Given the description of an element on the screen output the (x, y) to click on. 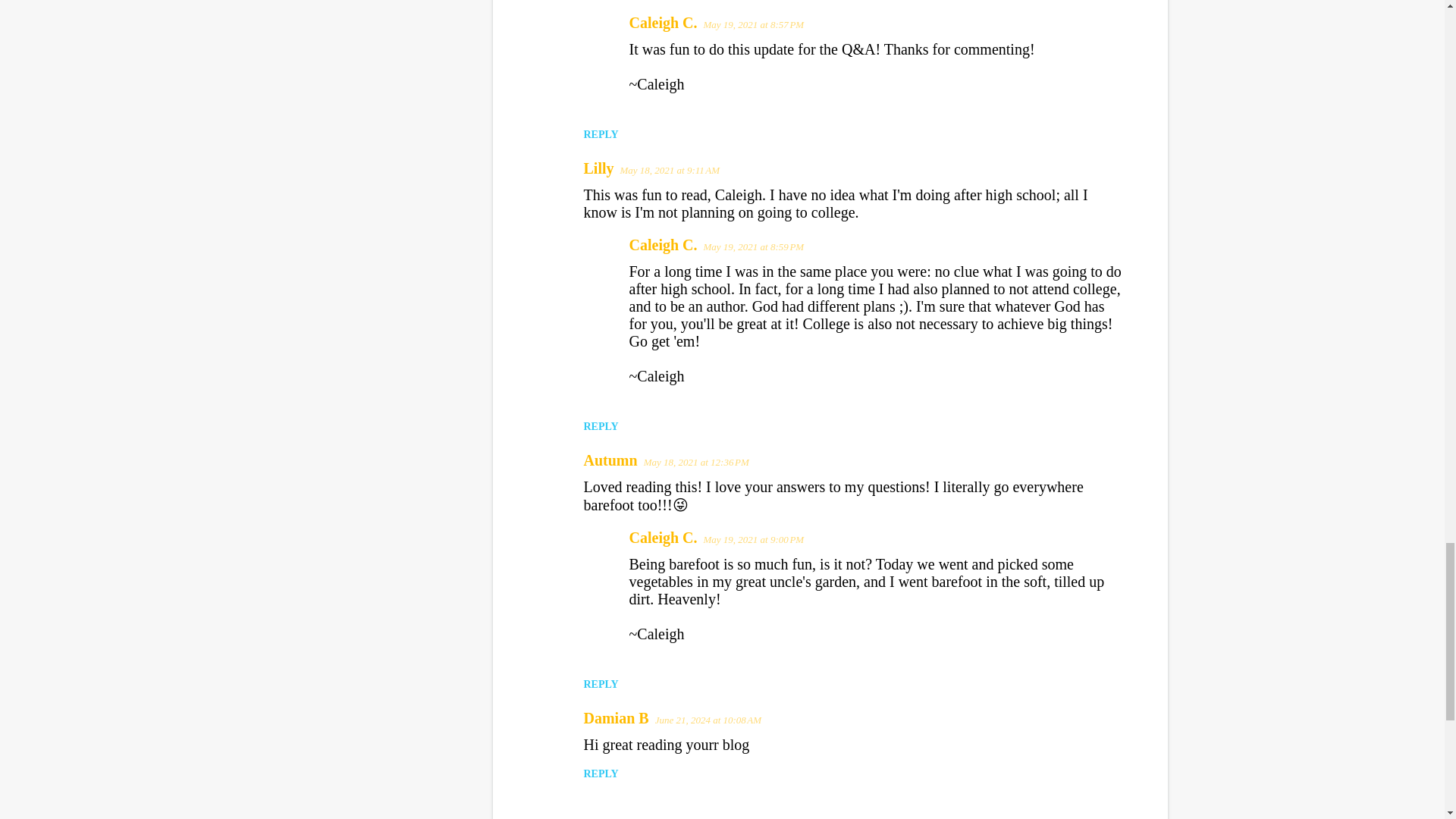
Autumn (610, 460)
REPLY (600, 684)
REPLY (600, 426)
REPLY (600, 134)
Lilly (598, 167)
Caleigh C. (662, 22)
Caleigh C. (662, 244)
